Given the description of an element on the screen output the (x, y) to click on. 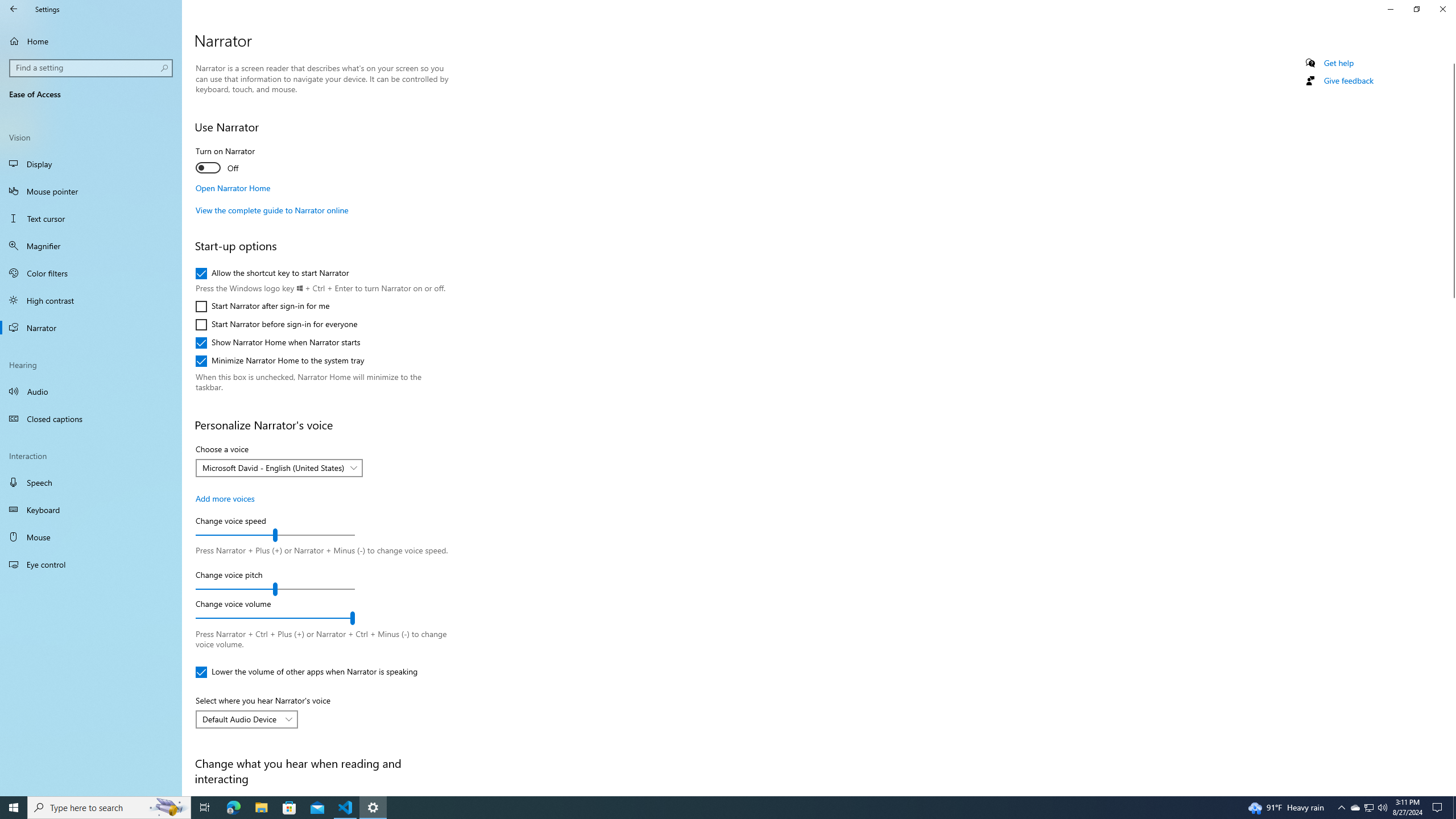
Search box, Find a setting (91, 67)
Closed captions (91, 418)
Change voice speed (275, 534)
Back (13, 9)
Mouse (91, 536)
Vertical Large Increase (1451, 542)
Vertical (1451, 425)
Display (91, 163)
Choose a voice (278, 467)
High contrast (91, 299)
Change voice volume (275, 618)
Keyboard (91, 509)
